Given the description of an element on the screen output the (x, y) to click on. 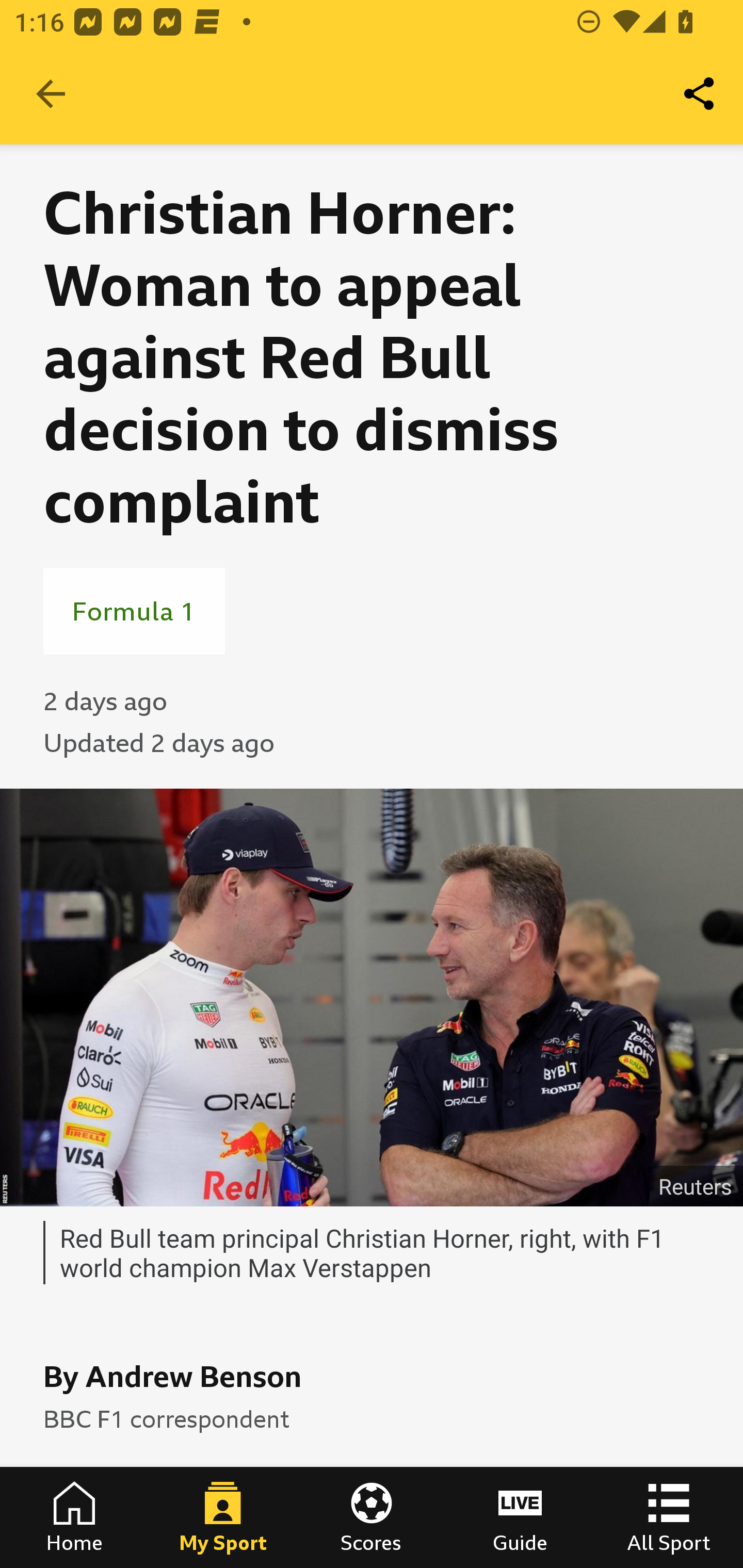
Navigate up (50, 93)
Share (699, 93)
Formula 1 (134, 610)
Home (74, 1517)
Scores (371, 1517)
Guide (519, 1517)
All Sport (668, 1517)
